Given the description of an element on the screen output the (x, y) to click on. 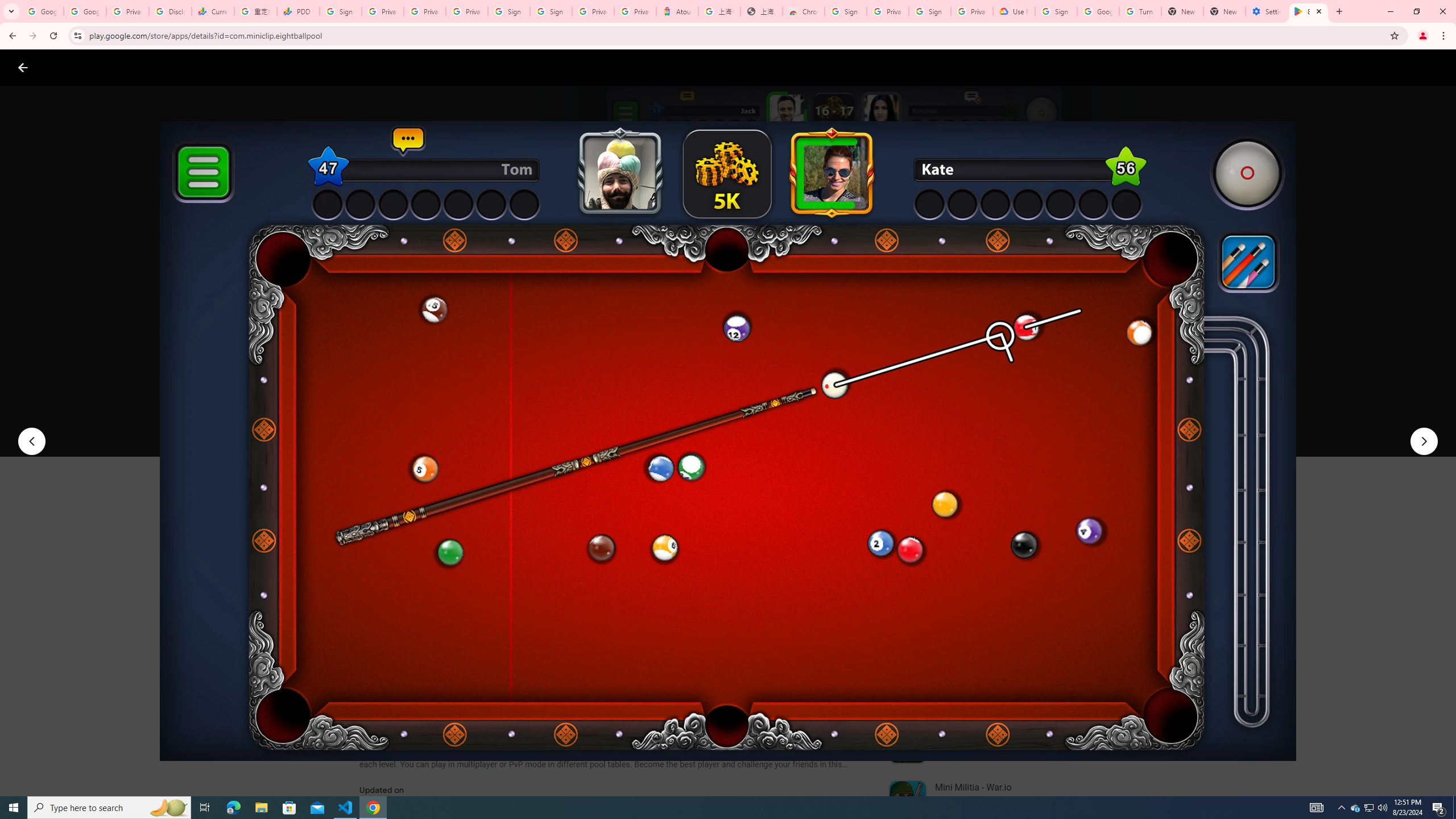
Search (1382, 67)
Apps (182, 67)
Sign in - Google Accounts (550, 11)
Currencies - Google Finance (212, 11)
Sign in - Google Accounts (930, 11)
See more information on About this game (472, 681)
Open account menu (1436, 67)
